Given the description of an element on the screen output the (x, y) to click on. 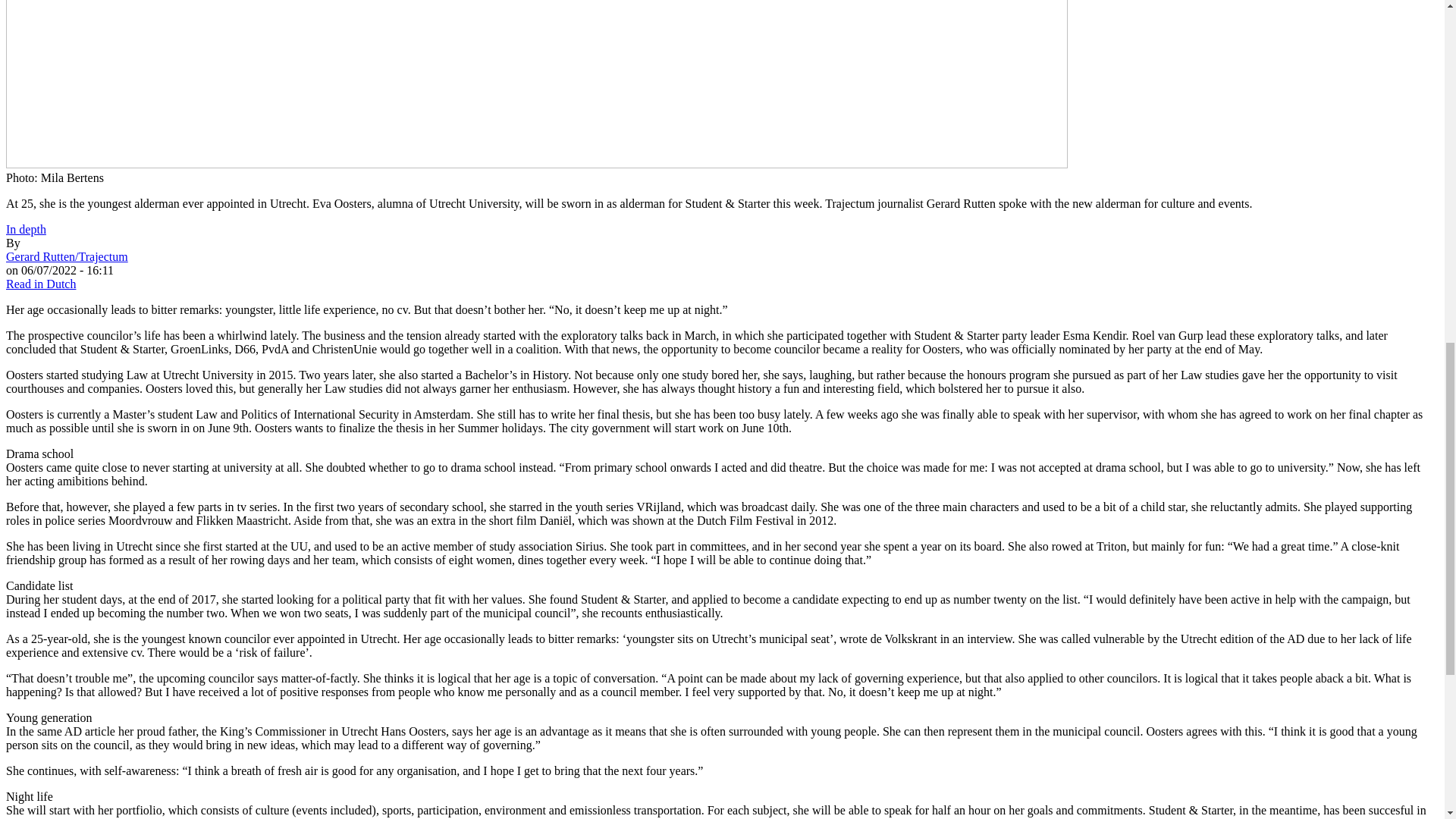
Read in Dutch (40, 283)
In depth (25, 228)
